Given the description of an element on the screen output the (x, y) to click on. 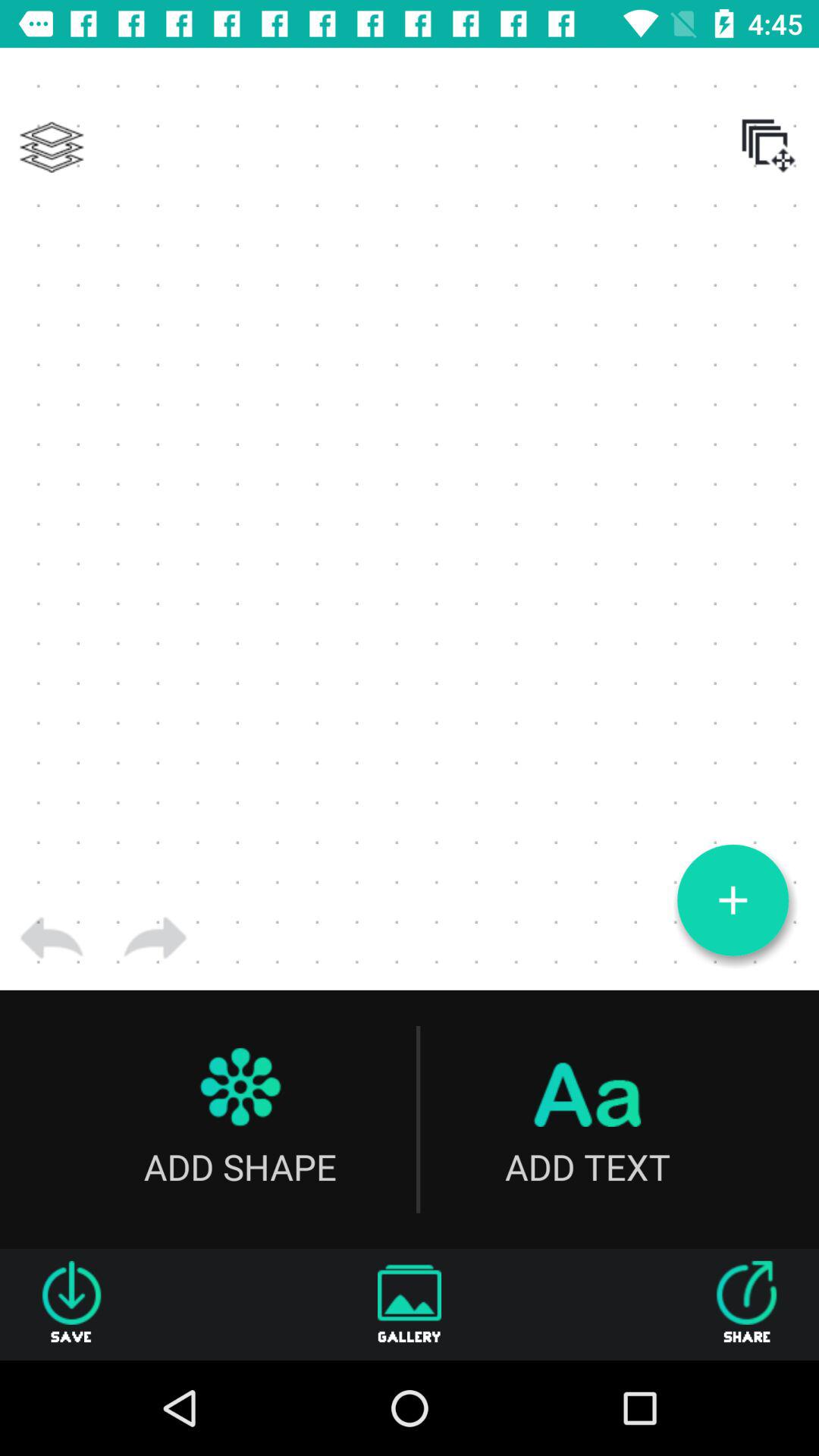
go forward (155, 938)
